Given the description of an element on the screen output the (x, y) to click on. 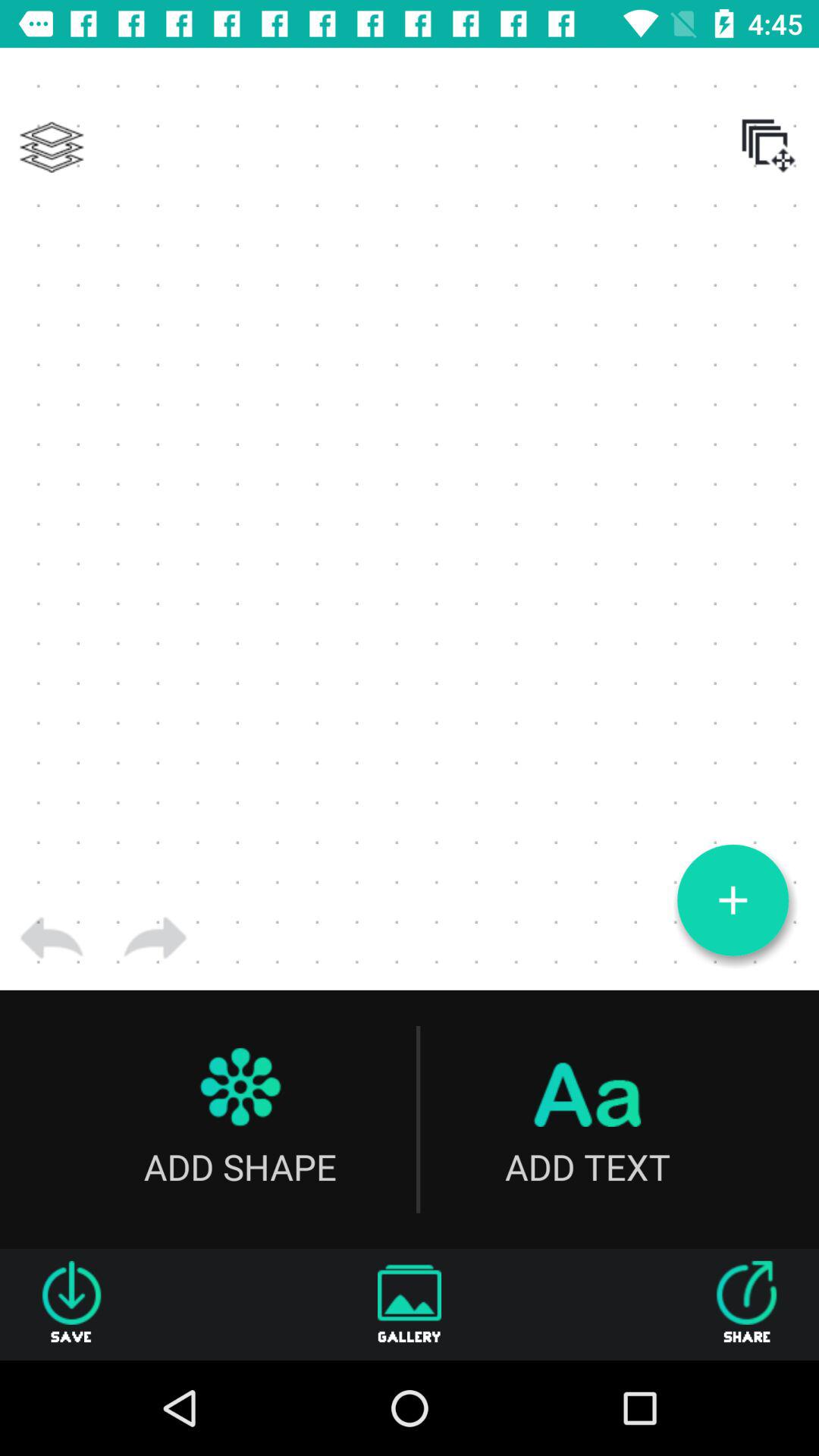
go forward (155, 938)
